Given the description of an element on the screen output the (x, y) to click on. 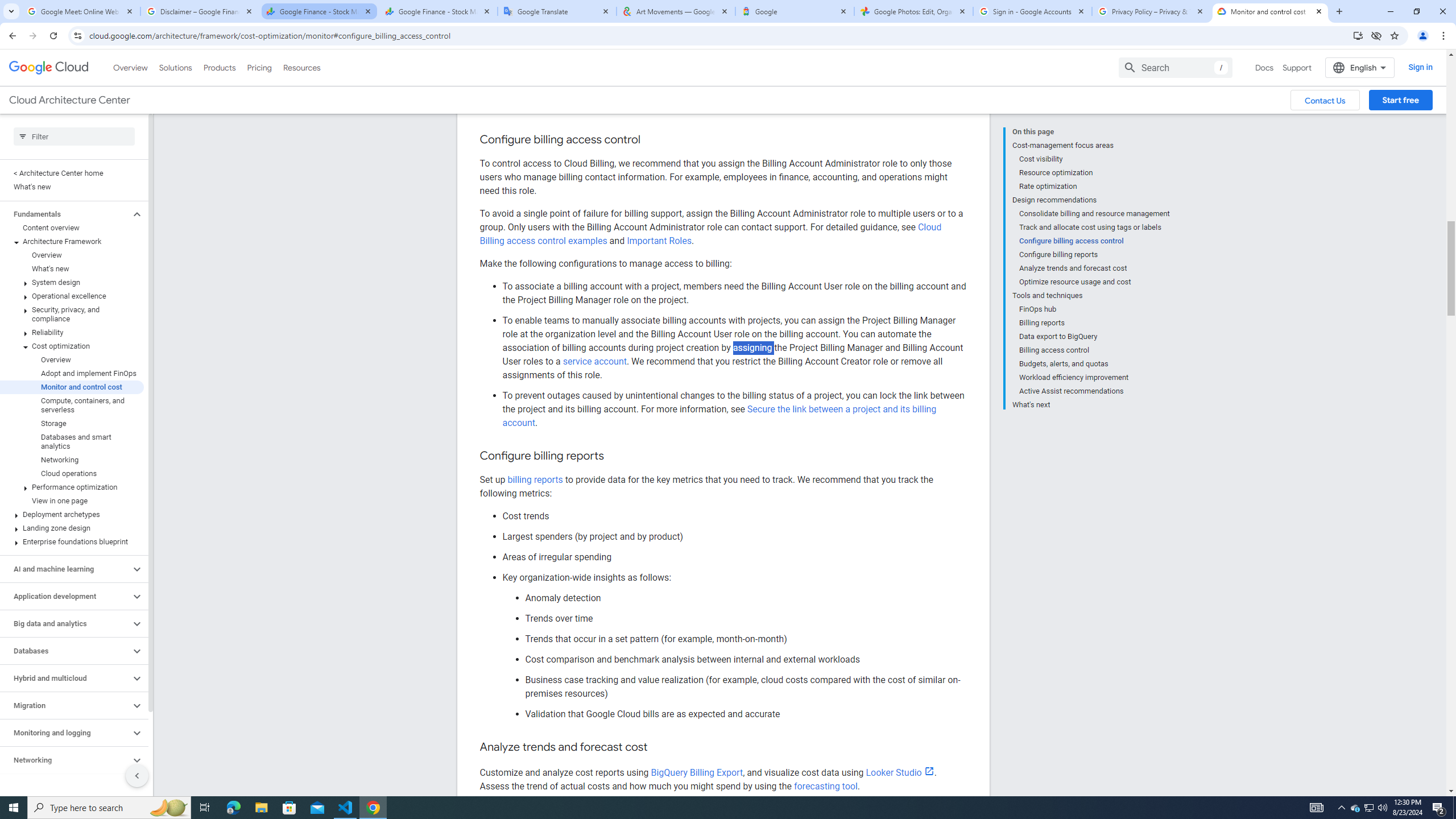
Application development (64, 546)
Monitoring and logging (64, 683)
Consolidate billing and resource management (1094, 164)
Monitor and control cost (72, 337)
Migration (64, 656)
Hide side navigation (136, 725)
Hybrid and multicloud (64, 628)
Copy link to this section: Analyze trends and forecast cost (659, 747)
Workload efficiency improvement (1094, 327)
Optimize resource usage and cost (1094, 232)
View in one page (72, 451)
Resource optimization (1094, 123)
